Given the description of an element on the screen output the (x, y) to click on. 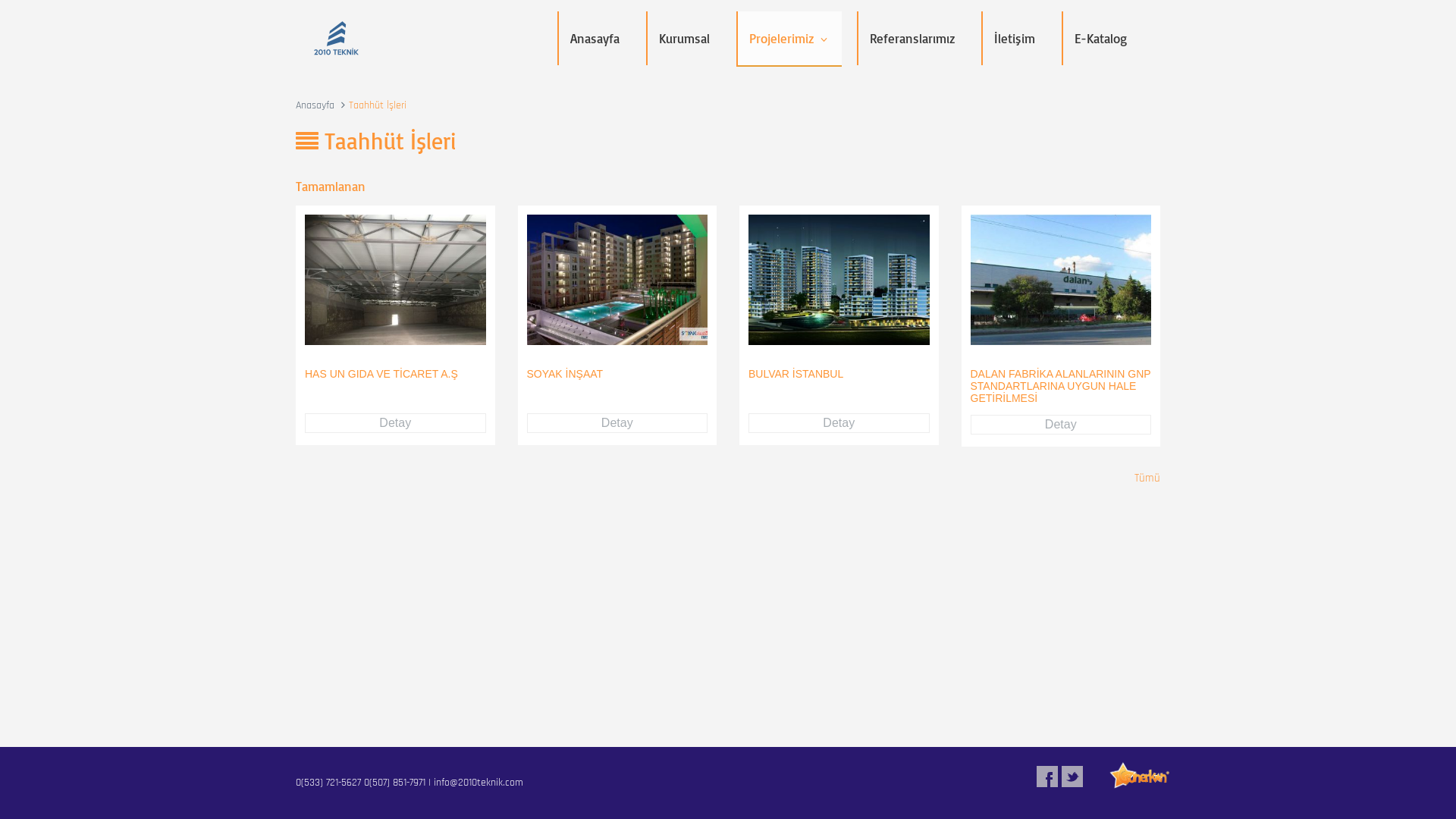
Kurumsal Element type: text (684, 38)
Anasayfa Element type: text (594, 38)
Anasayfa Element type: text (314, 105)
Projelerimiz Element type: text (789, 38)
Detay Element type: text (1060, 424)
Detay Element type: text (395, 423)
Detay Element type: text (616, 423)
Detay Element type: text (838, 423)
E-Katalog Element type: text (1100, 38)
